Given the description of an element on the screen output the (x, y) to click on. 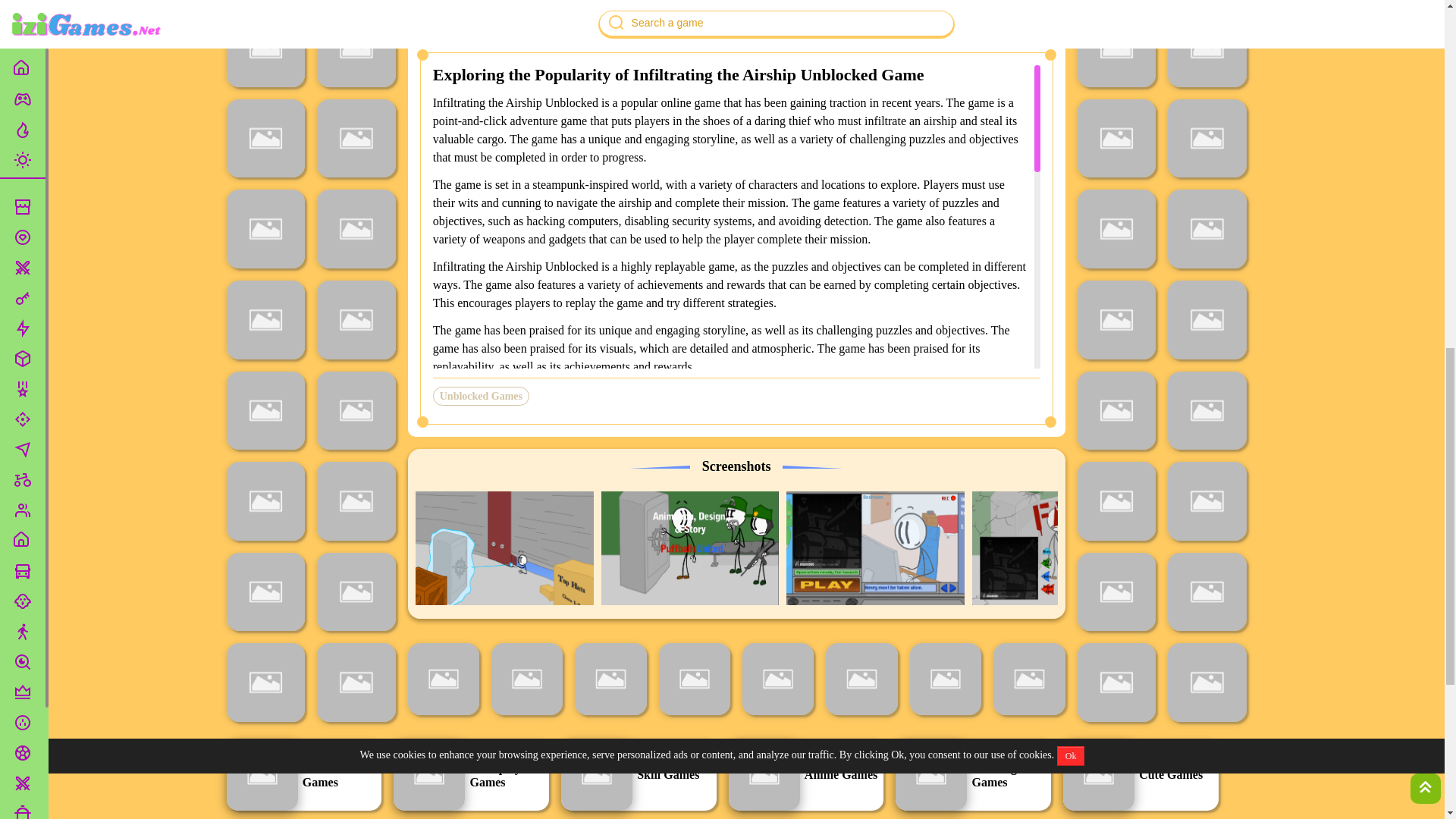
Multiplayer Games (470, 774)
Running Games (973, 774)
Cute Games (1140, 774)
Skill Games (638, 774)
Anime Games (805, 774)
Unblocked Games (303, 774)
